Given the description of an element on the screen output the (x, y) to click on. 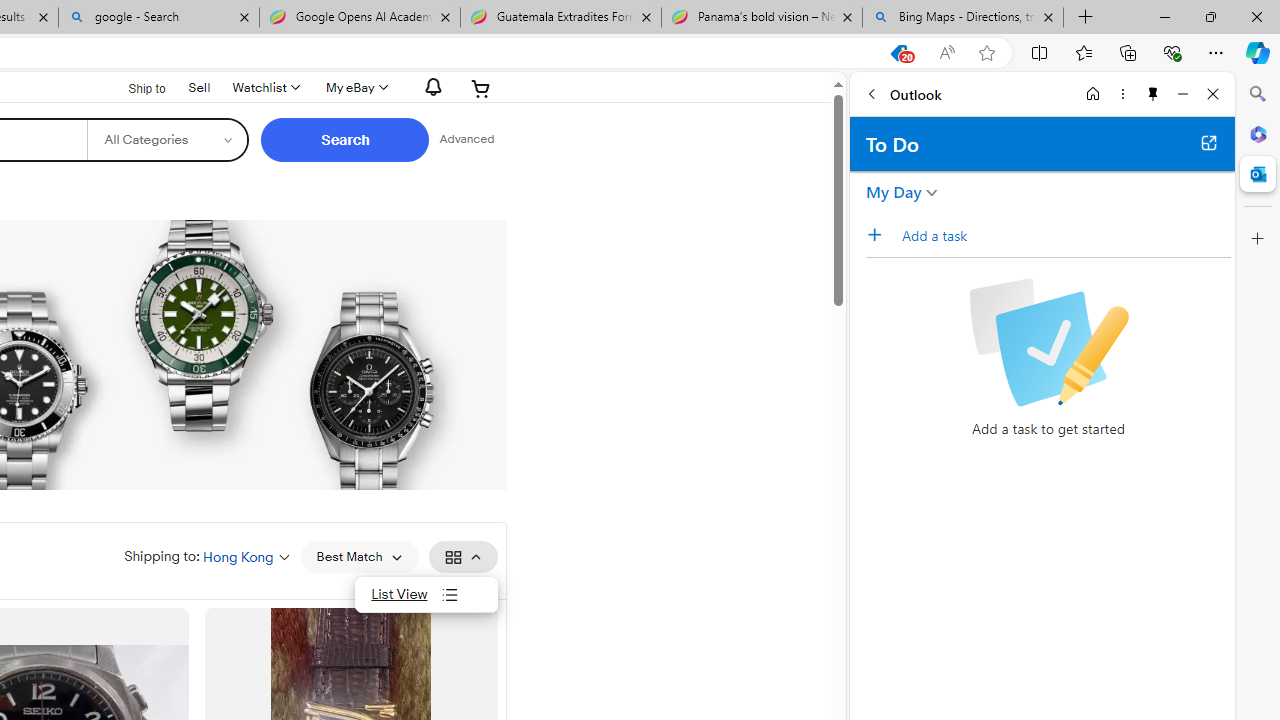
google - Search (158, 17)
Unpin side pane (1153, 93)
Shipping to: Hong Kong (207, 556)
WatchlistExpand Watch List (264, 88)
Add a task (881, 235)
Sell (199, 86)
This site has coupons! Shopping in Microsoft Edge, 20 (898, 53)
My eBayExpand My eBay (354, 88)
Add a task (1065, 235)
Google Opens AI Academy for Startups - Nearshore Americas (359, 17)
Watchlist (264, 88)
